Given the description of an element on the screen output the (x, y) to click on. 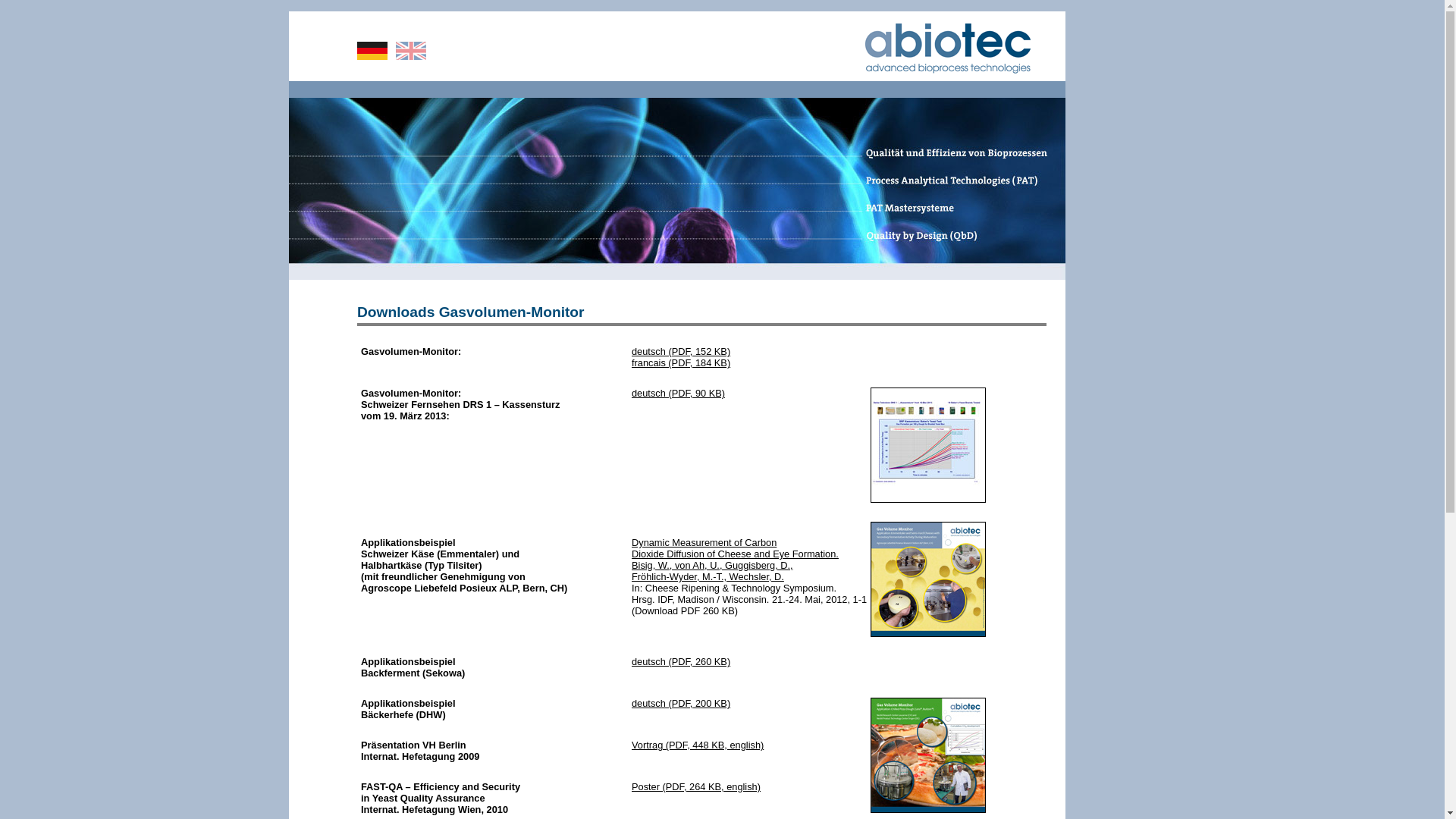
francais (PDF, 184 KB) Element type: text (680, 362)
deutsch (PDF, 152 KB) Element type: text (680, 351)
deutsch (PDF, 200 KB) Element type: text (680, 703)
deutsch (PDF, 260 KB) Element type: text (680, 661)
Vortrag (PDF, 448 KB, english) Element type: text (697, 744)
Poster (PDF, 264 KB, english) Element type: text (695, 786)
deutsch (PDF, 90 KB) Element type: text (677, 392)
